Given the description of an element on the screen output the (x, y) to click on. 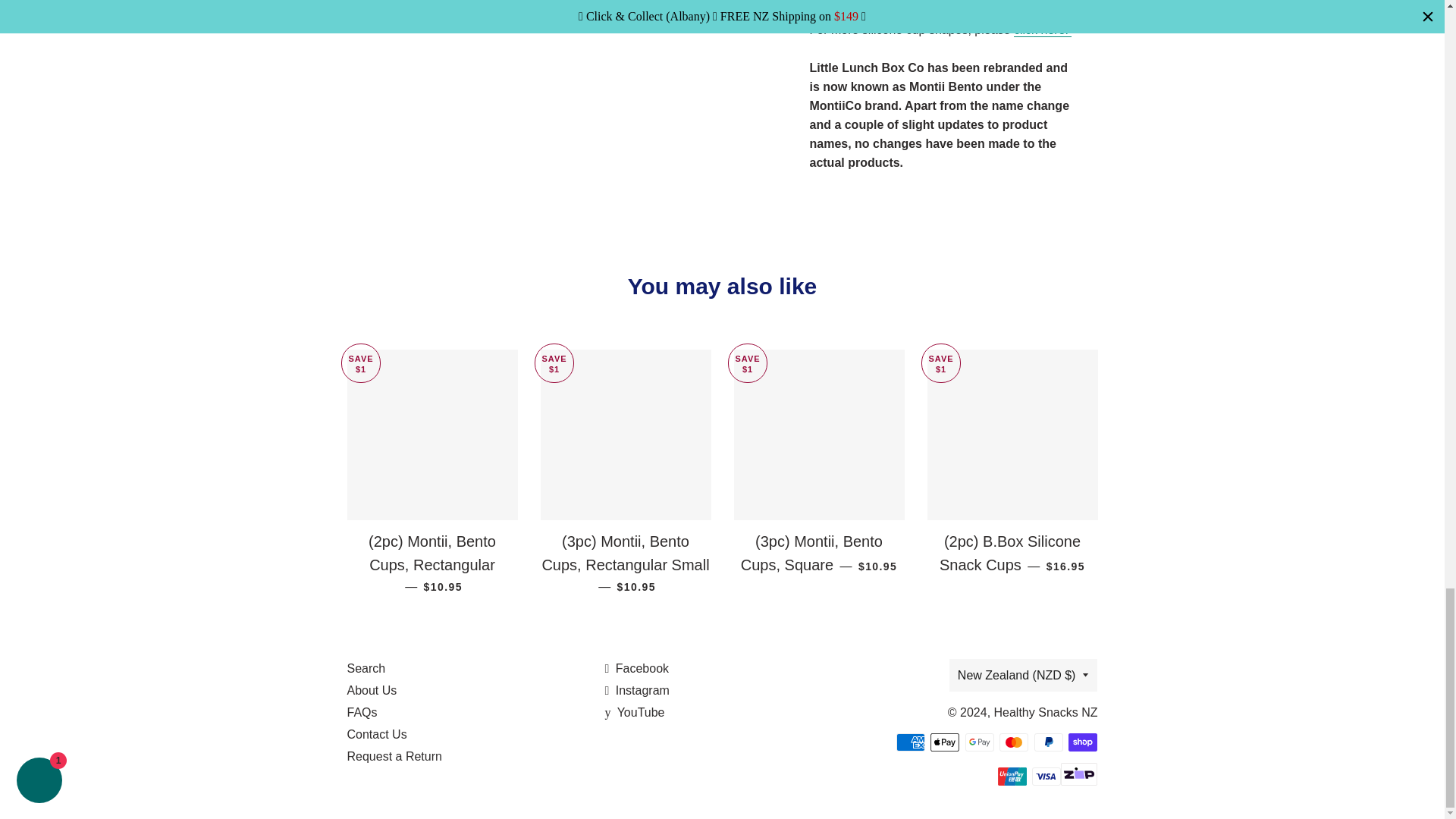
American Express (910, 742)
Healthy Snacks NZ on Instagram (636, 689)
Mastercard (1012, 742)
PayPal (1047, 742)
Shop Pay (1082, 742)
Healthy Snacks NZ on YouTube (633, 712)
Google Pay (979, 742)
Silicone Products - Healthy Snacks NZ (1042, 29)
Union Pay (1011, 776)
Apple Pay (944, 742)
Healthy Snacks NZ on Facebook (636, 667)
Visa (1046, 776)
